Given the description of an element on the screen output the (x, y) to click on. 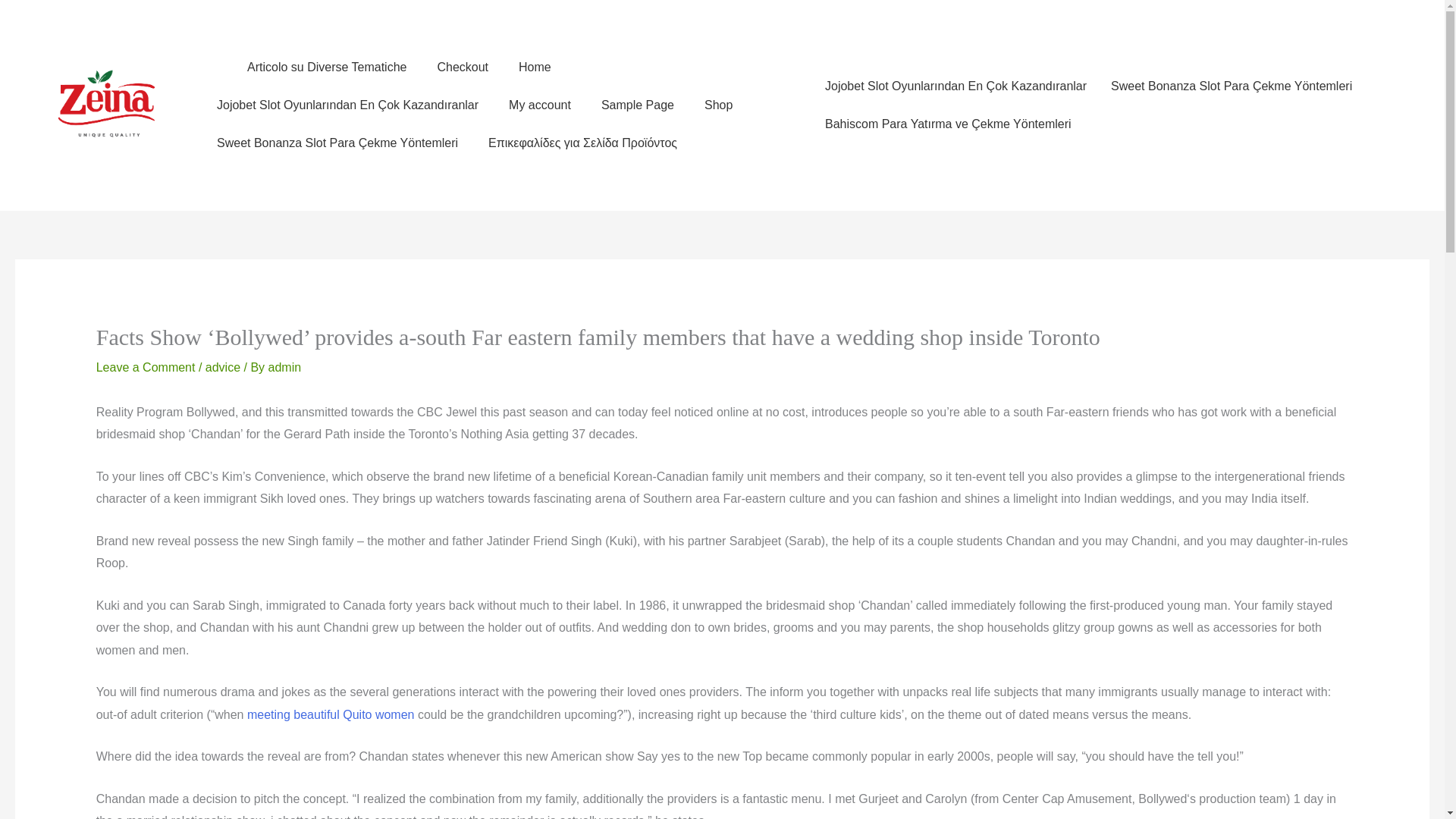
Shop (718, 105)
My account (539, 105)
Sample Page (637, 105)
Home (534, 67)
View all posts by admin (284, 367)
Leave a Comment (145, 367)
advice (222, 367)
Articolo su Diverse Tematiche (326, 67)
admin (284, 367)
meeting beautiful Quito women (330, 714)
